Given the description of an element on the screen output the (x, y) to click on. 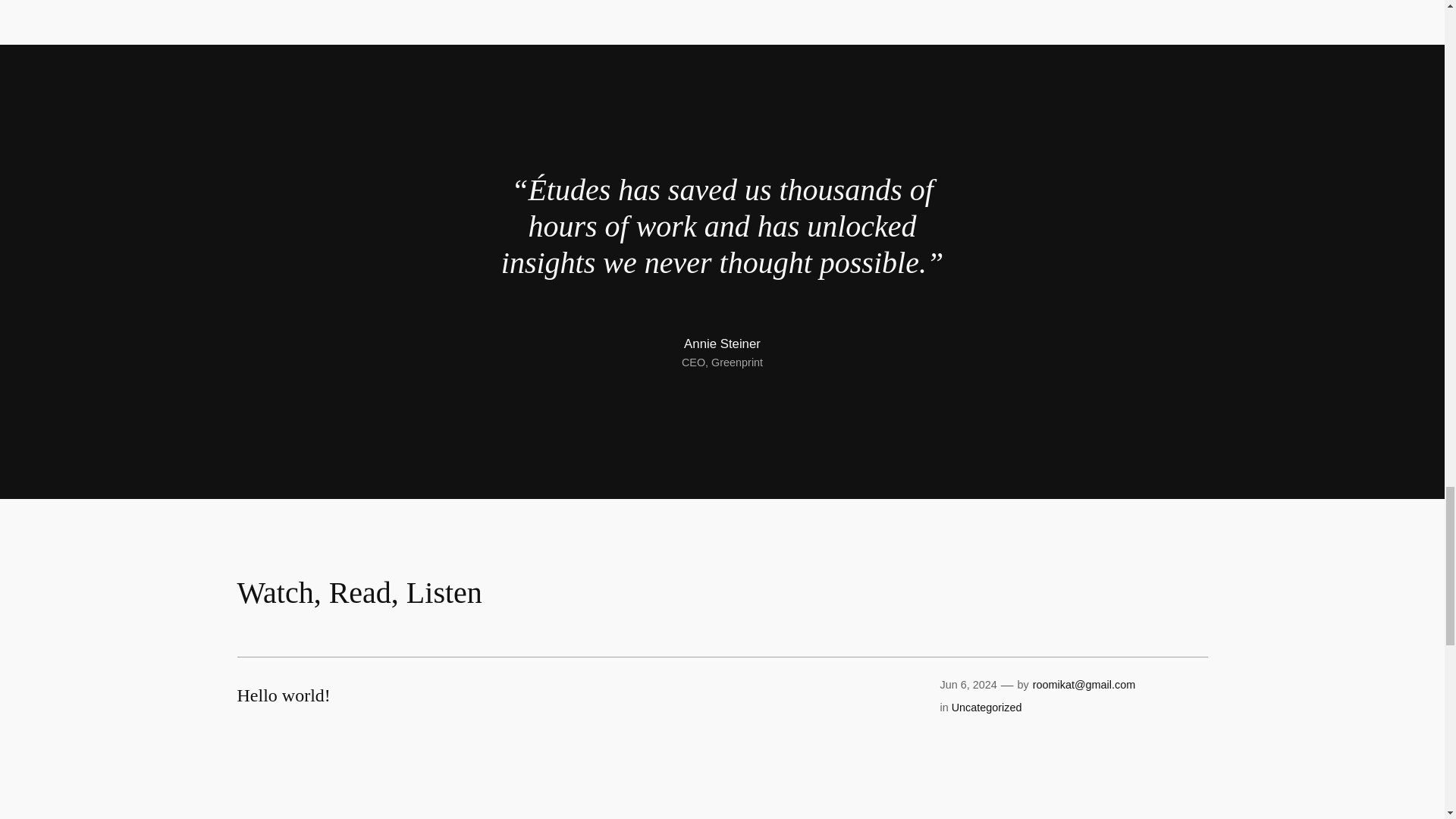
Hello world! (282, 695)
Jun 6, 2024 (967, 684)
Uncategorized (987, 707)
